Given the description of an element on the screen output the (x, y) to click on. 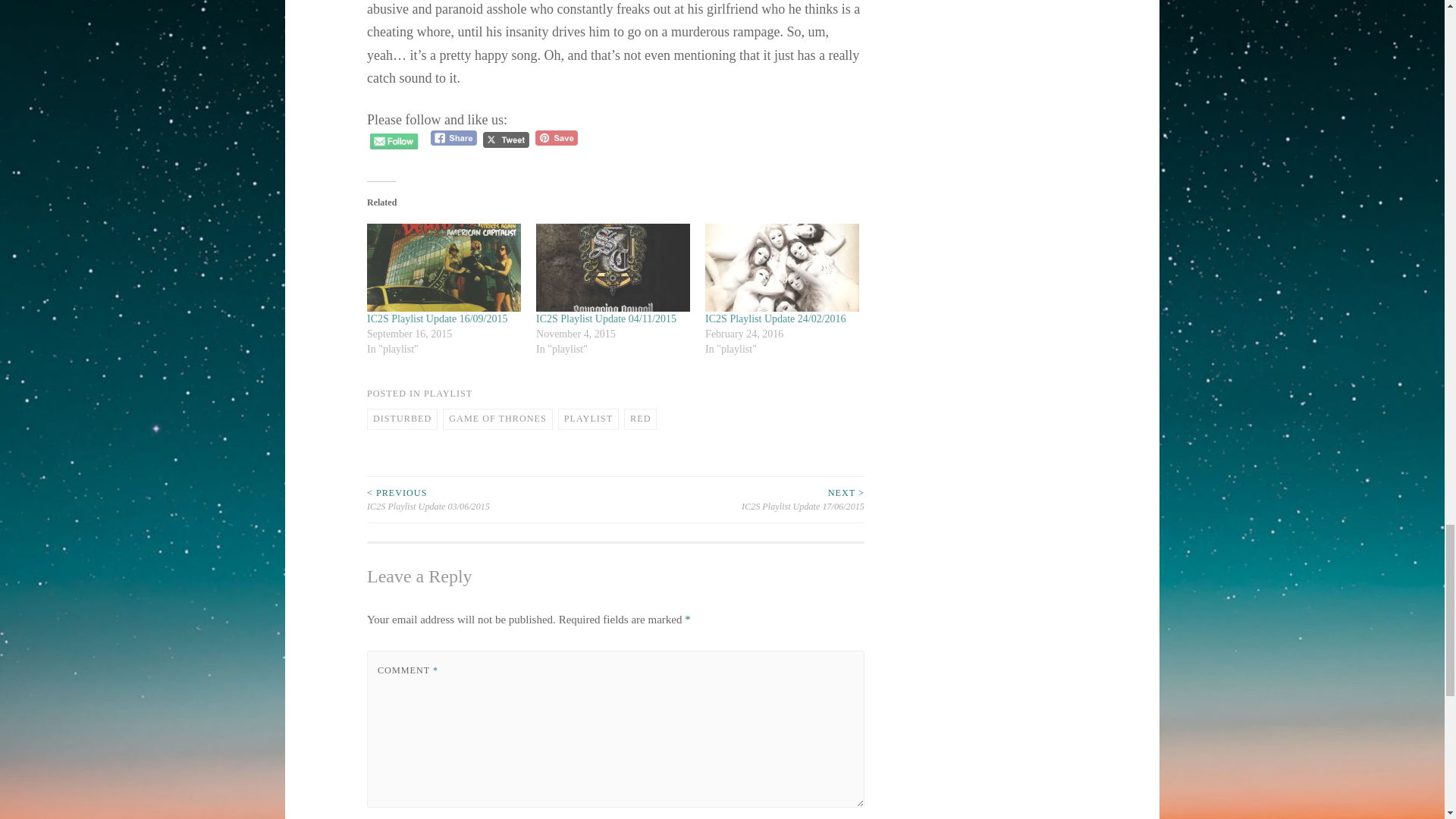
GAME OF THRONES (496, 418)
PLAYLIST (447, 393)
DISTURBED (402, 418)
Facebook Share (453, 138)
RED (640, 418)
Tweet (506, 139)
PLAYLIST (587, 418)
Pin Share (555, 138)
